Given the description of an element on the screen output the (x, y) to click on. 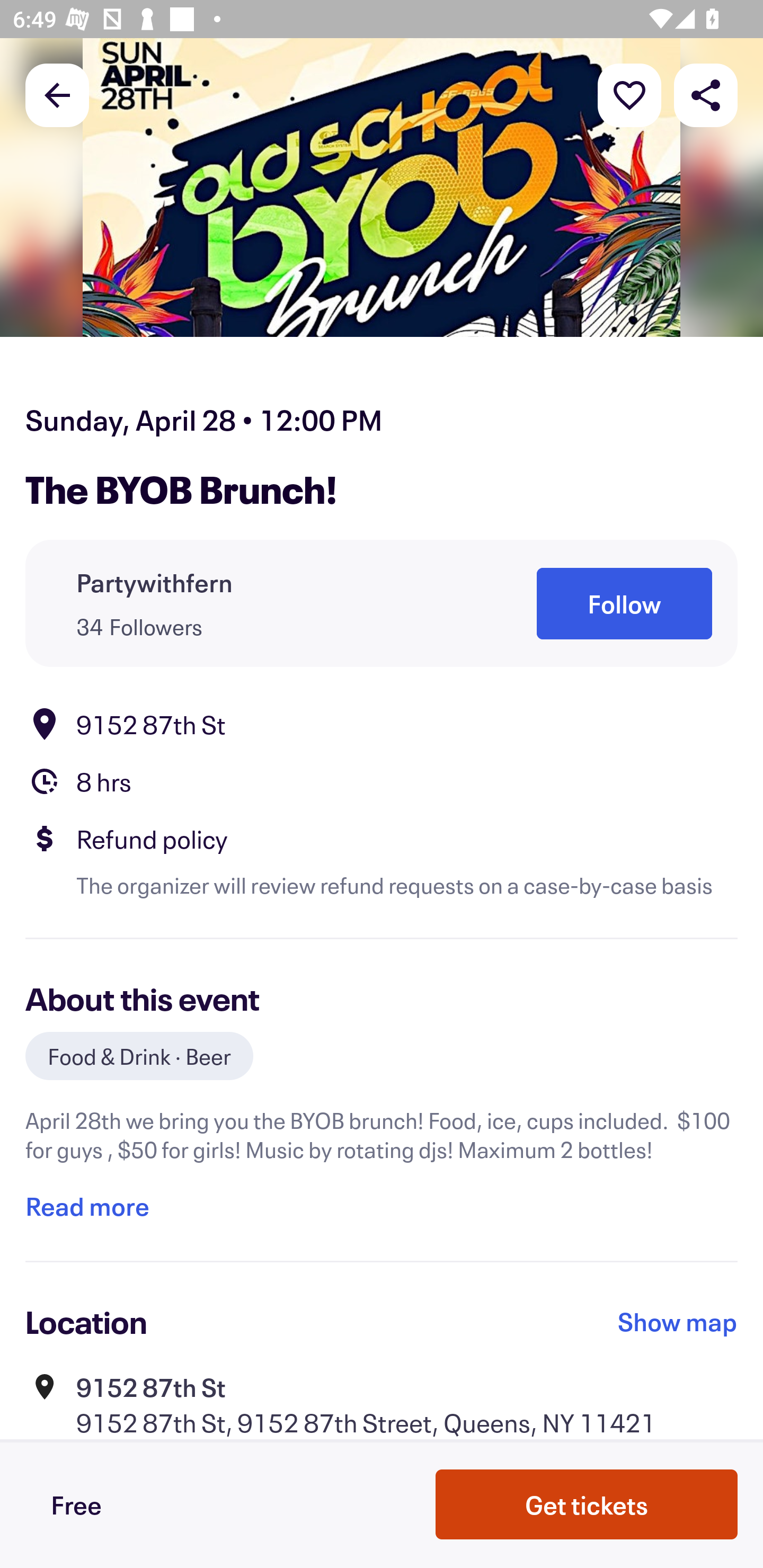
Back (57, 94)
More (629, 94)
Share (705, 94)
Partywithfern (154, 582)
Follow (623, 603)
Location 9152 87th St (381, 724)
Read more (87, 1206)
Show map (677, 1321)
Get tickets (586, 1504)
